Given the description of an element on the screen output the (x, y) to click on. 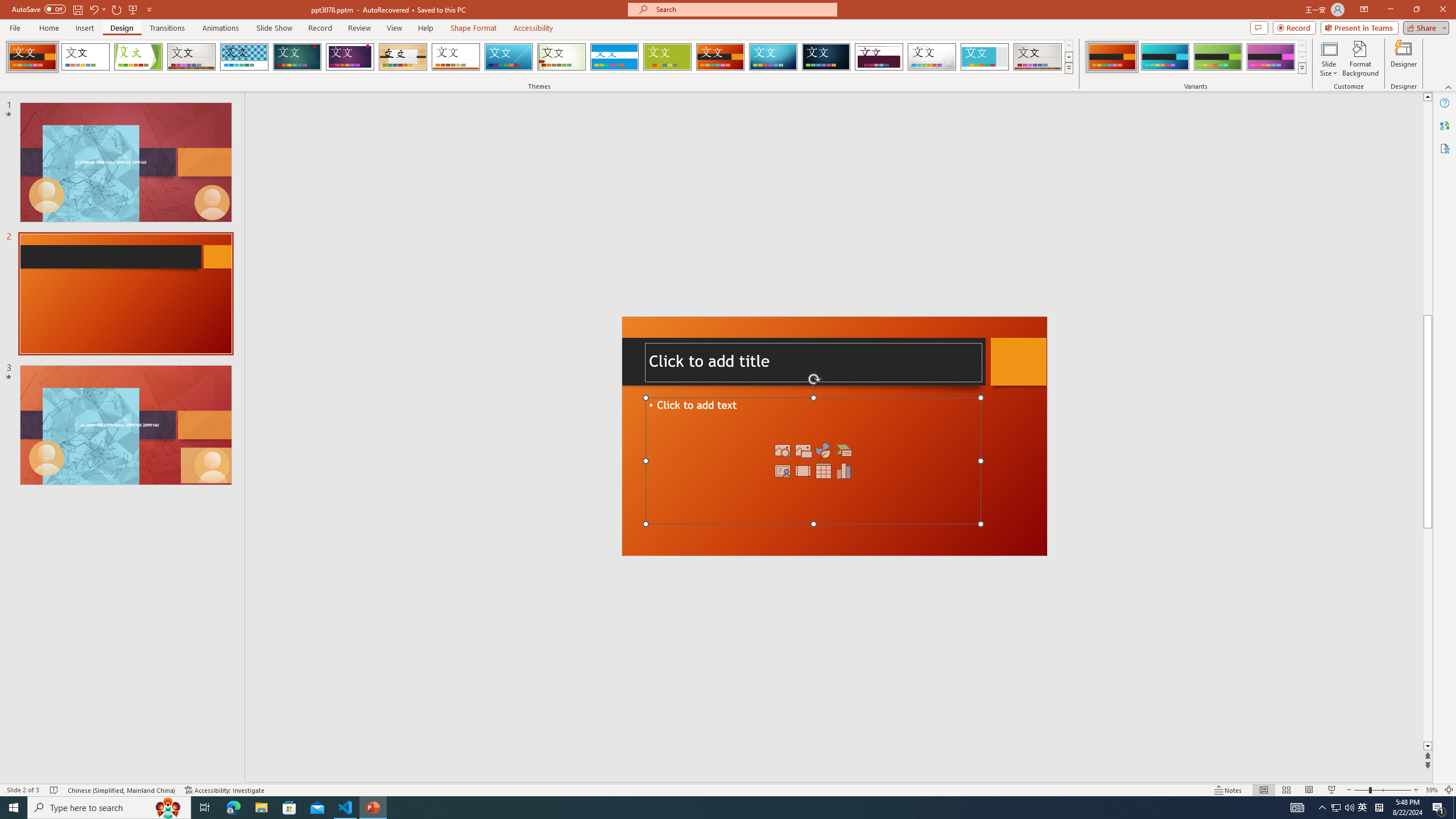
Gallery (1037, 56)
Variants (1301, 67)
Insert Video (802, 470)
Berlin Variant 1 (1112, 56)
Format Background (1360, 58)
Circuit (772, 56)
Berlin (720, 56)
